Given the description of an element on the screen output the (x, y) to click on. 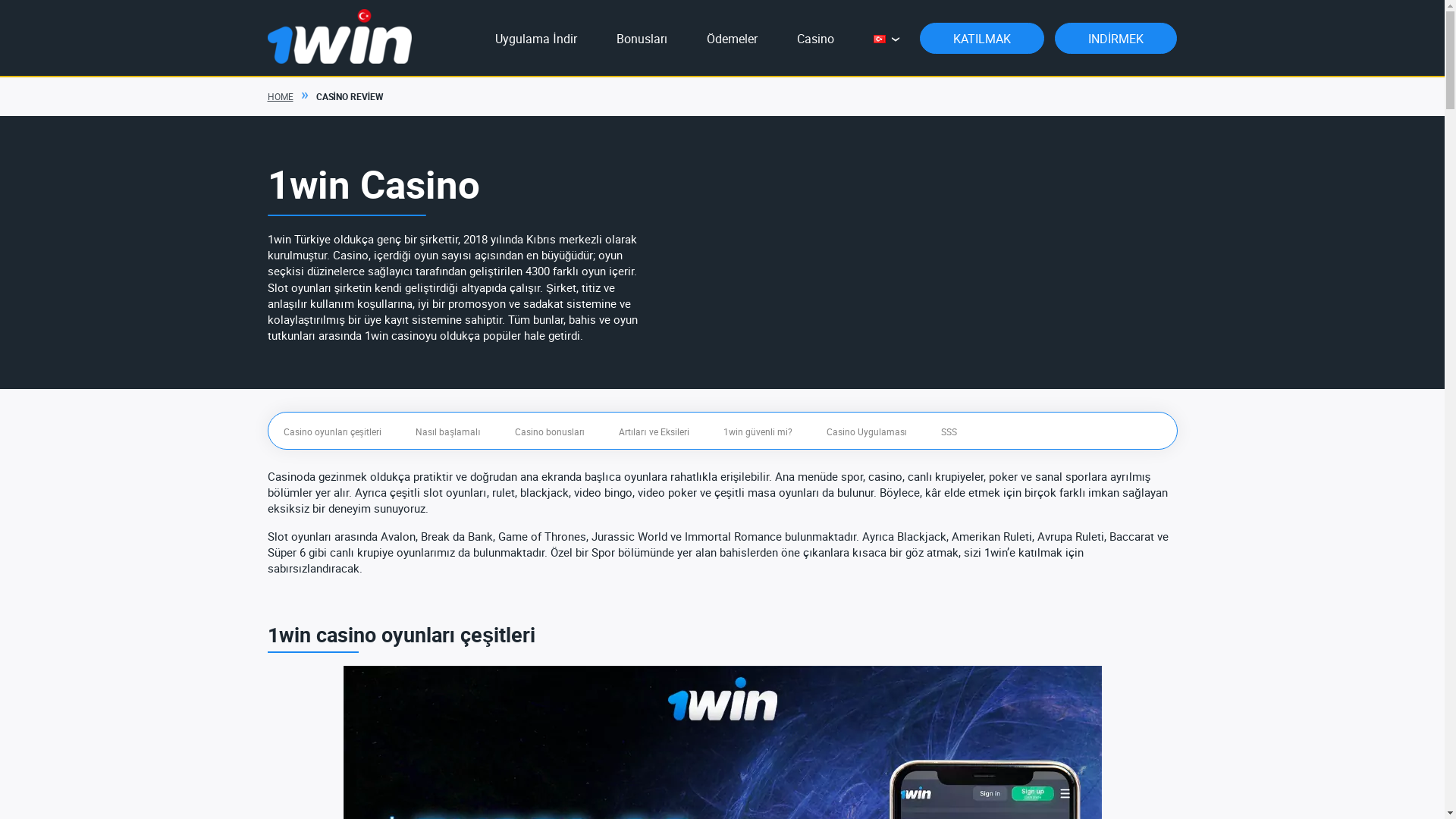
INDIRMEK Element type: text (1115, 37)
Casino Element type: text (815, 39)
SSS Element type: text (949, 431)
HOME Element type: text (290, 96)
KATILMAK Element type: text (981, 37)
